Given the description of an element on the screen output the (x, y) to click on. 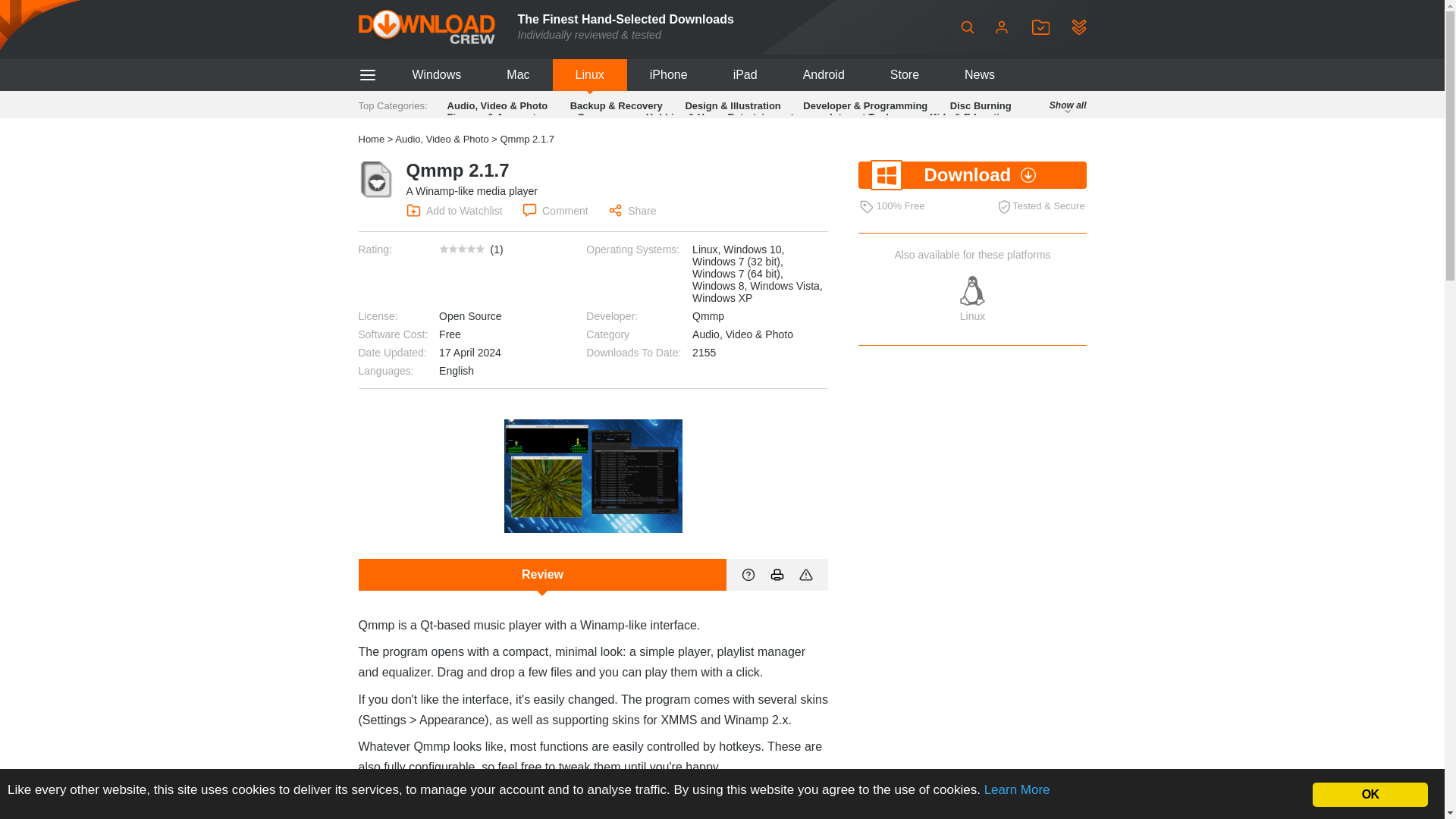
Downloadcrew - Home (426, 26)
Android (823, 74)
Linux (590, 74)
iPad (745, 74)
Internet Tools (861, 116)
Windows (435, 74)
Disc Burning (980, 105)
Mac (517, 74)
Games (593, 116)
iPhone (668, 74)
